Given the description of an element on the screen output the (x, y) to click on. 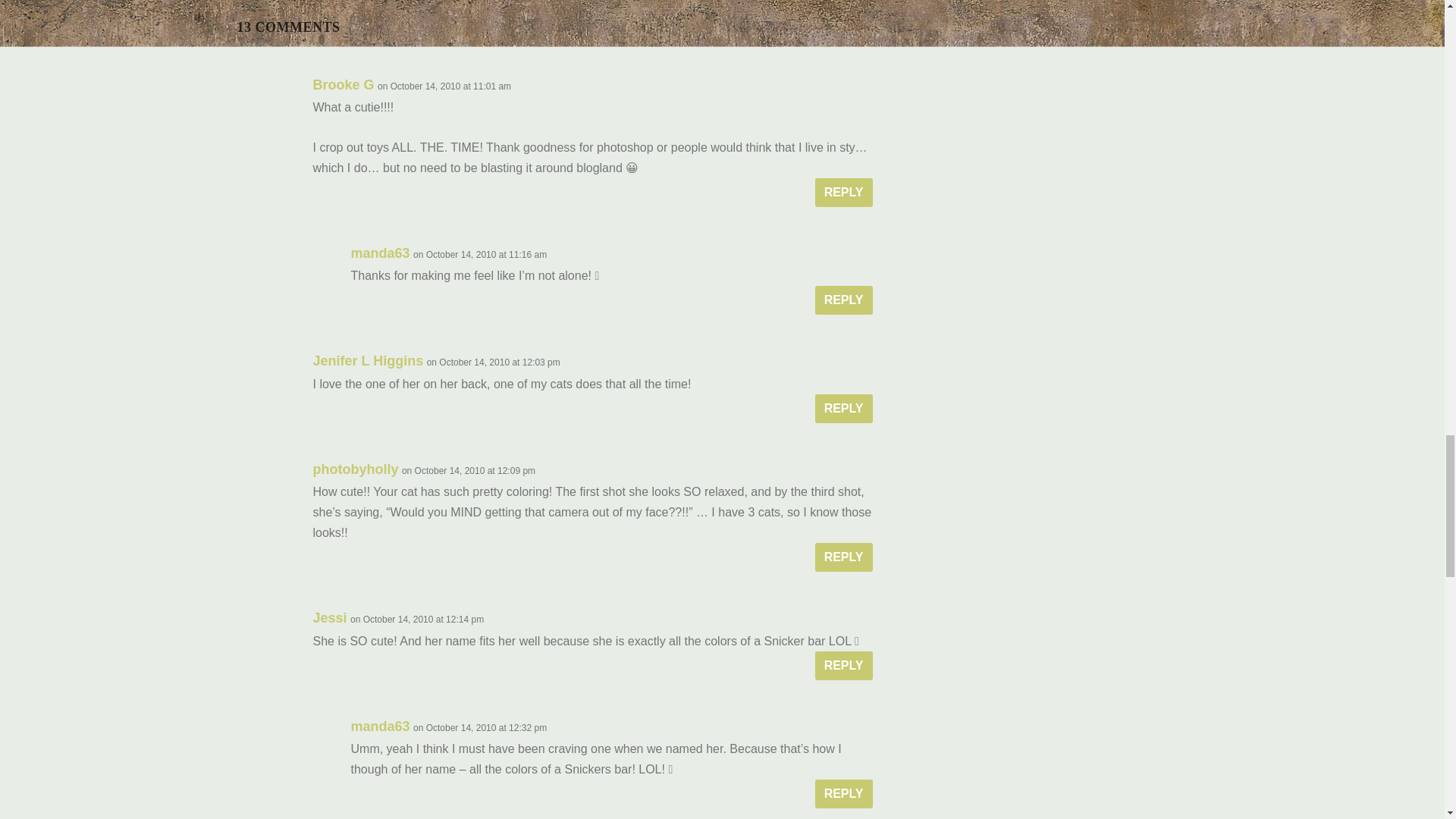
REPLY (843, 408)
photobyholly (355, 468)
manda63 (379, 253)
Brooke G (343, 84)
REPLY (843, 192)
REPLY (843, 299)
Jenifer L Higgins (368, 360)
